Given the description of an element on the screen output the (x, y) to click on. 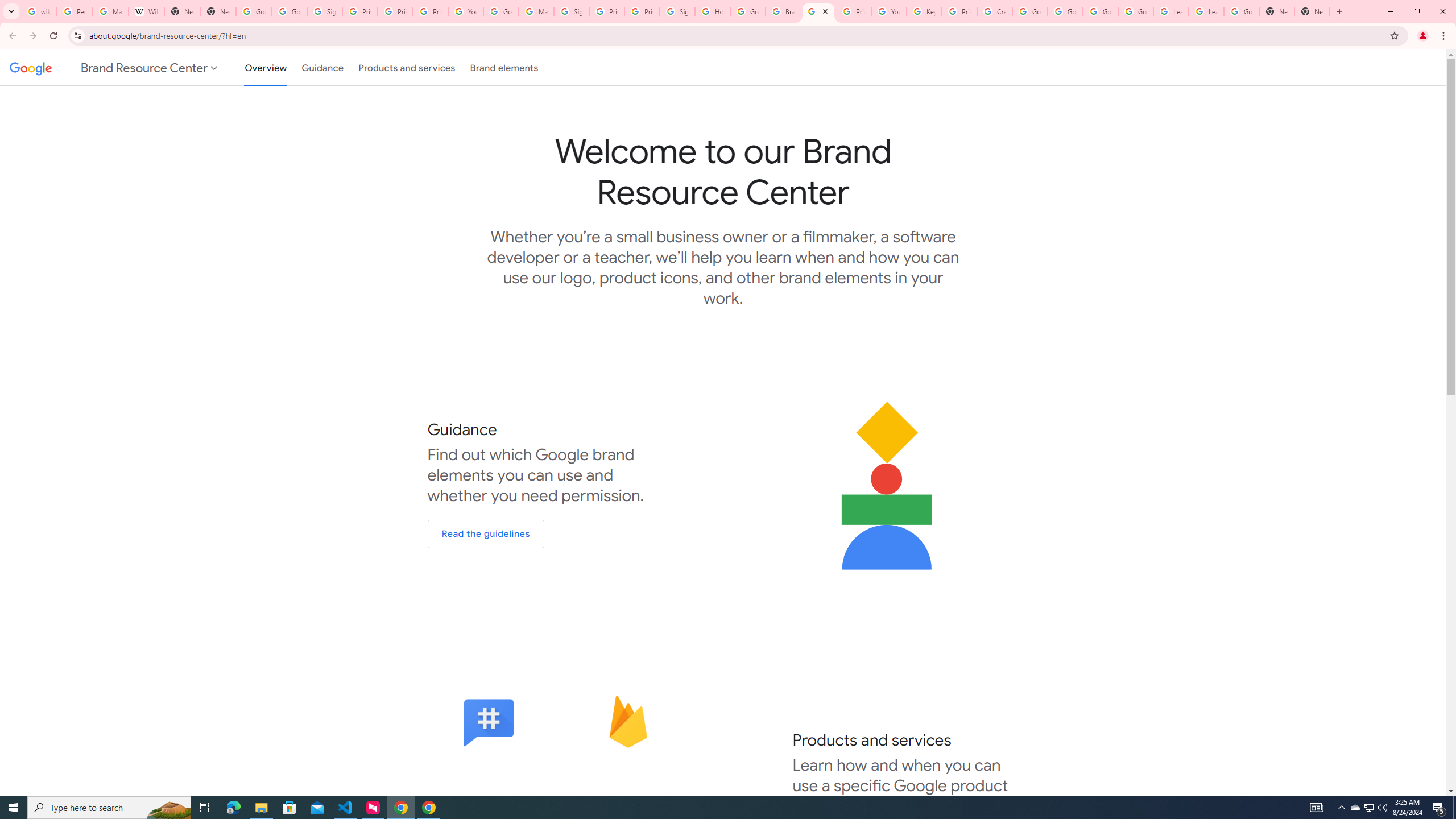
YouTube (465, 11)
Restore (1416, 11)
Google Account Help (1135, 11)
Guidance (322, 67)
Read the guidelines (485, 534)
Minimize (1390, 11)
Close (824, 11)
Overview (265, 67)
Brand Resource Center (783, 11)
Wikipedia:Edit requests - Wikipedia (145, 11)
Search tabs (10, 11)
Address and search bar (735, 35)
New Tab (1312, 11)
